Given the description of an element on the screen output the (x, y) to click on. 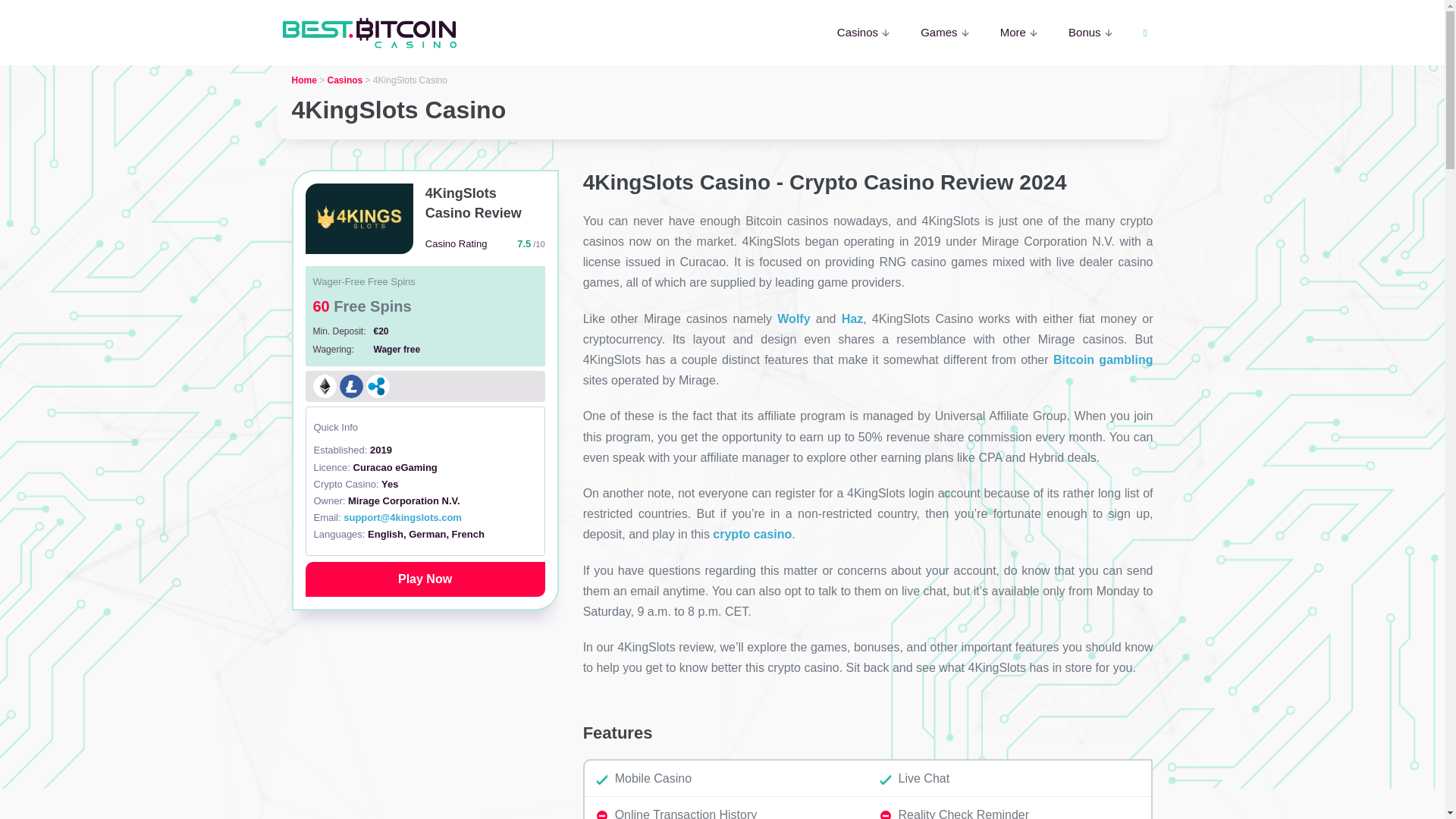
4KingSlots Casino (424, 579)
ethereum (324, 385)
ripple (378, 385)
More (1018, 32)
Best Bitcoin Casino (370, 31)
Games (945, 32)
litecoin (350, 385)
Casinos (863, 32)
